Given the description of an element on the screen output the (x, y) to click on. 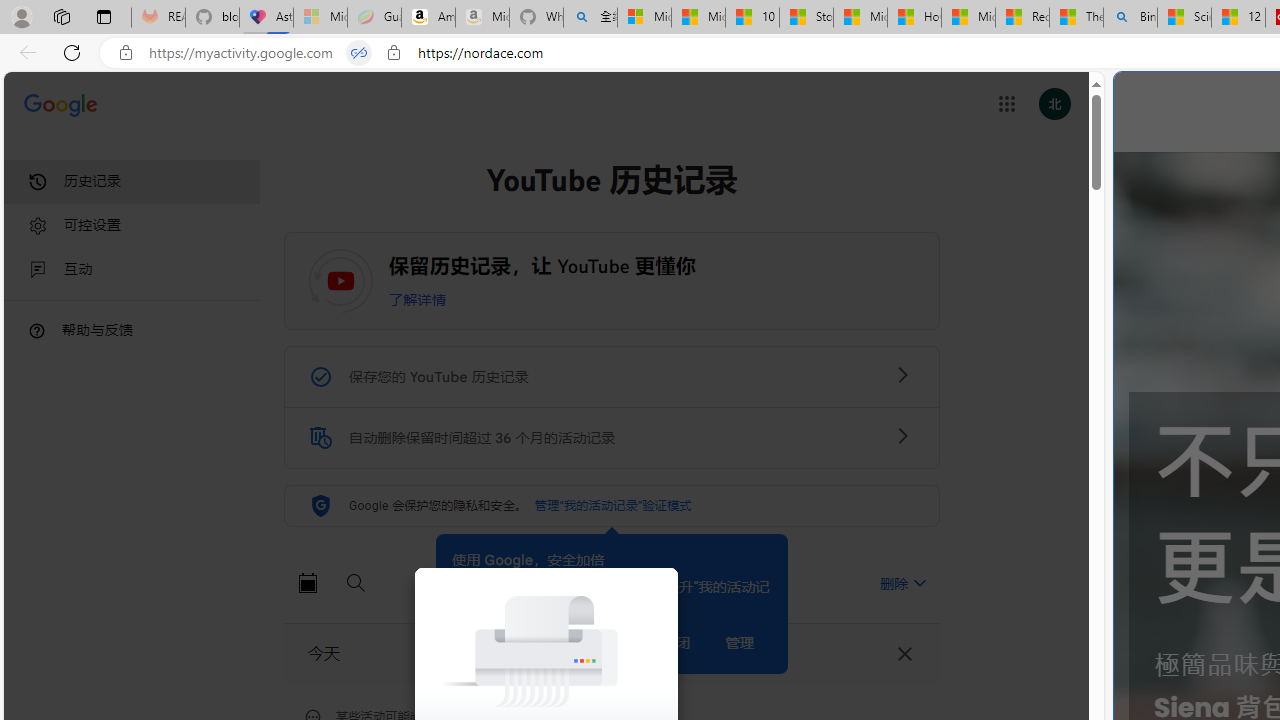
12 Popular Science Lies that Must be Corrected (1238, 17)
Tabs in split screen (358, 53)
